Given the description of an element on the screen output the (x, y) to click on. 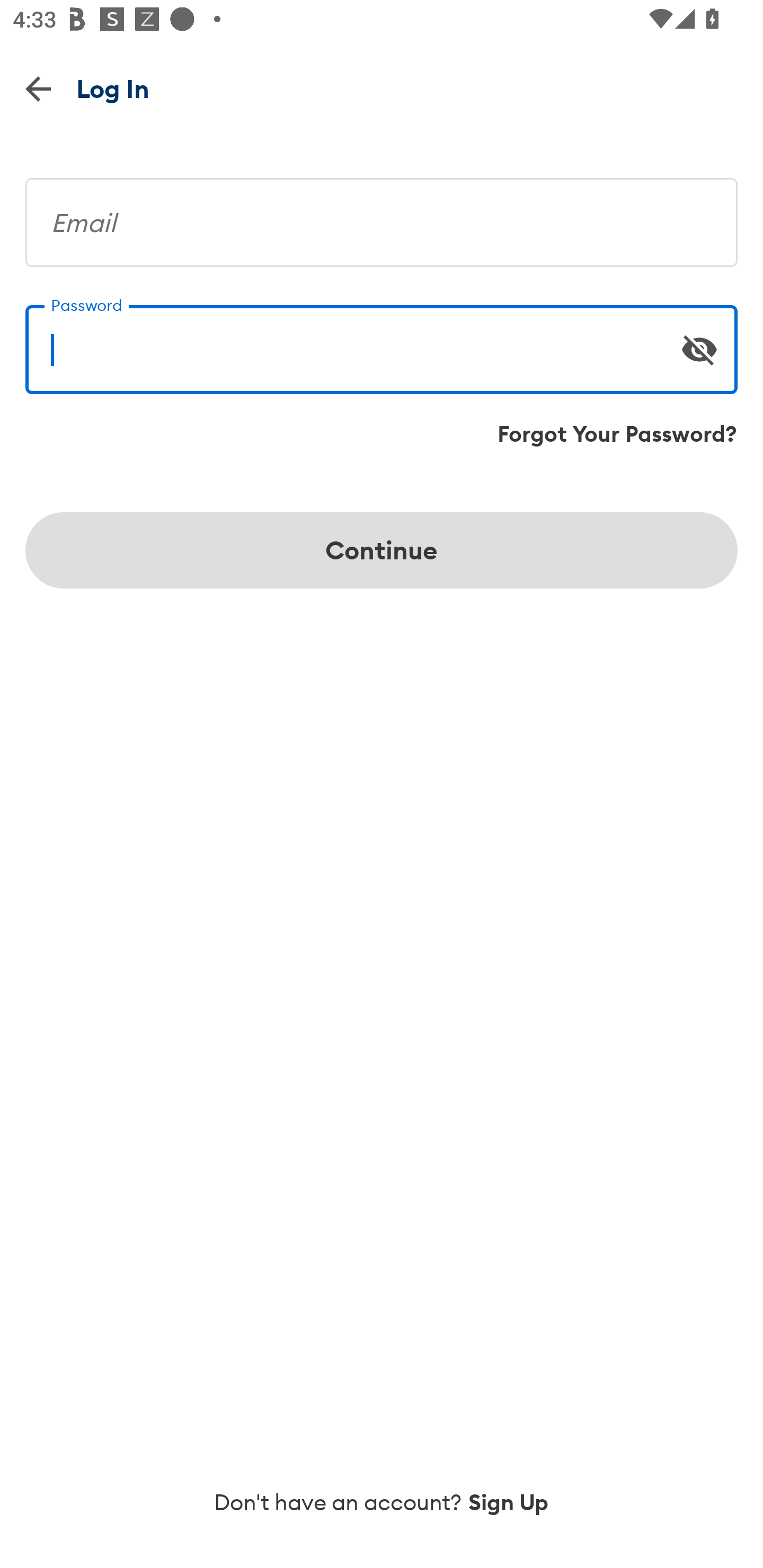
Back (38, 88)
Email (381, 215)
Password (381, 342)
Forgot Your Password? (617, 433)
Continue (381, 550)
Sign Up (508, 1502)
